Given the description of an element on the screen output the (x, y) to click on. 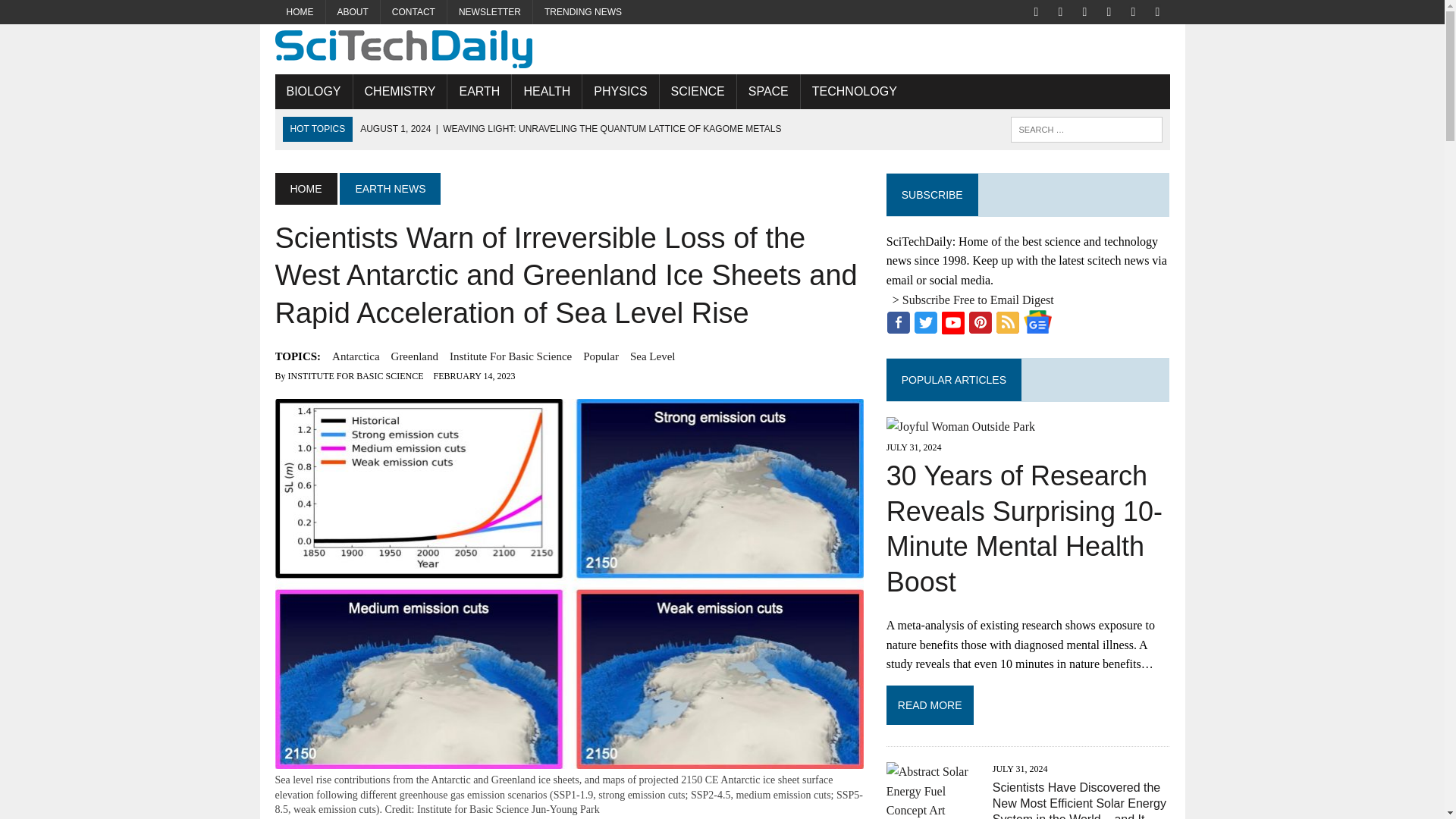
Search (75, 14)
CONTACT (413, 12)
EARTH (478, 91)
TRENDING NEWS (582, 12)
TECHNOLOGY (854, 91)
CHEMISTRY (399, 91)
EARTH NEWS (390, 188)
About SciTechDaily (353, 12)
Greenland (414, 356)
SPACE (767, 91)
